Given the description of an element on the screen output the (x, y) to click on. 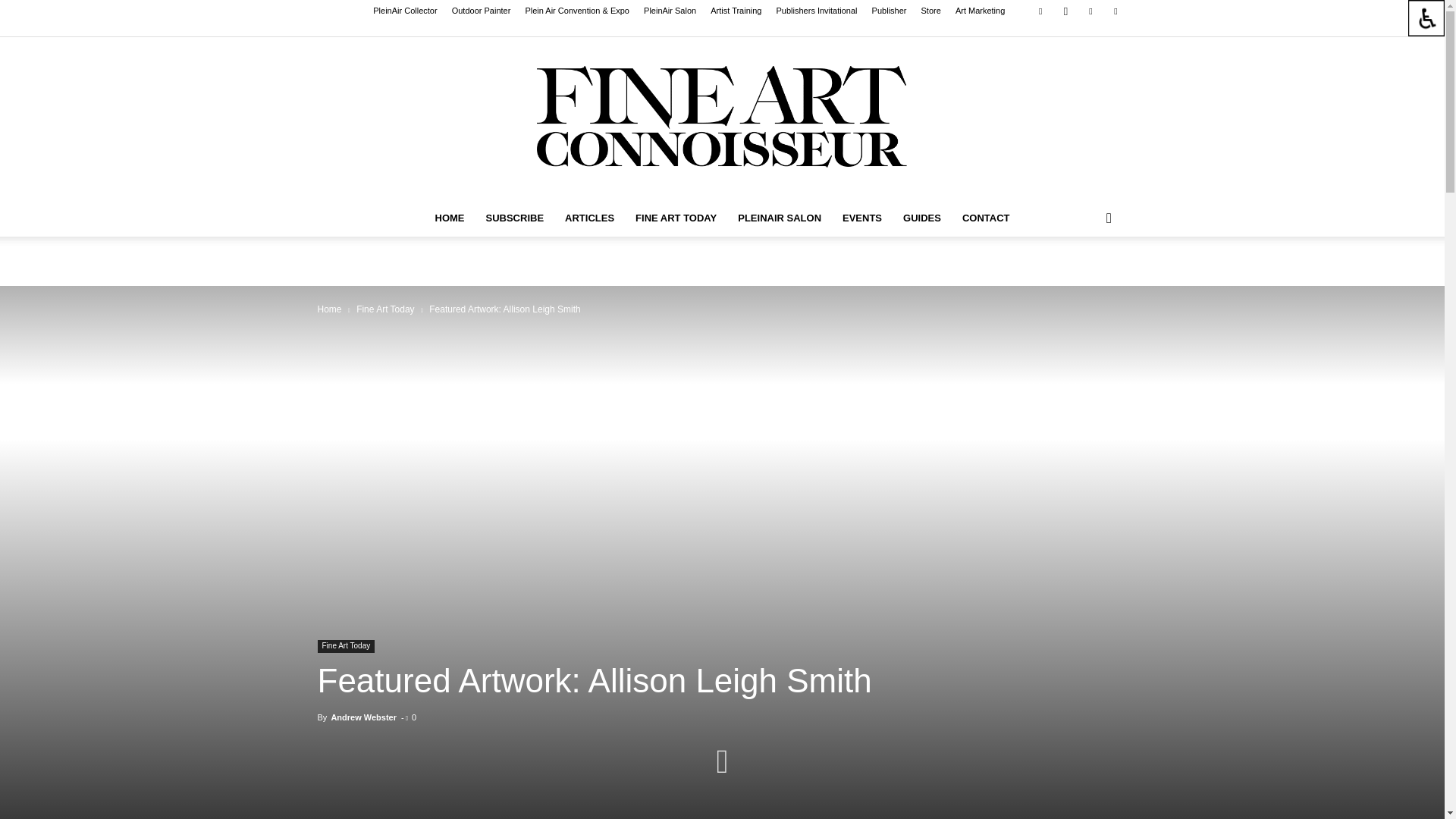
View all posts in Fine Art Today (385, 308)
Fine Art Connoisseur Magazine (722, 118)
Facebook (1040, 10)
Twitter (1114, 10)
RSS (1090, 10)
Instagram (1065, 10)
